Given the description of an element on the screen output the (x, y) to click on. 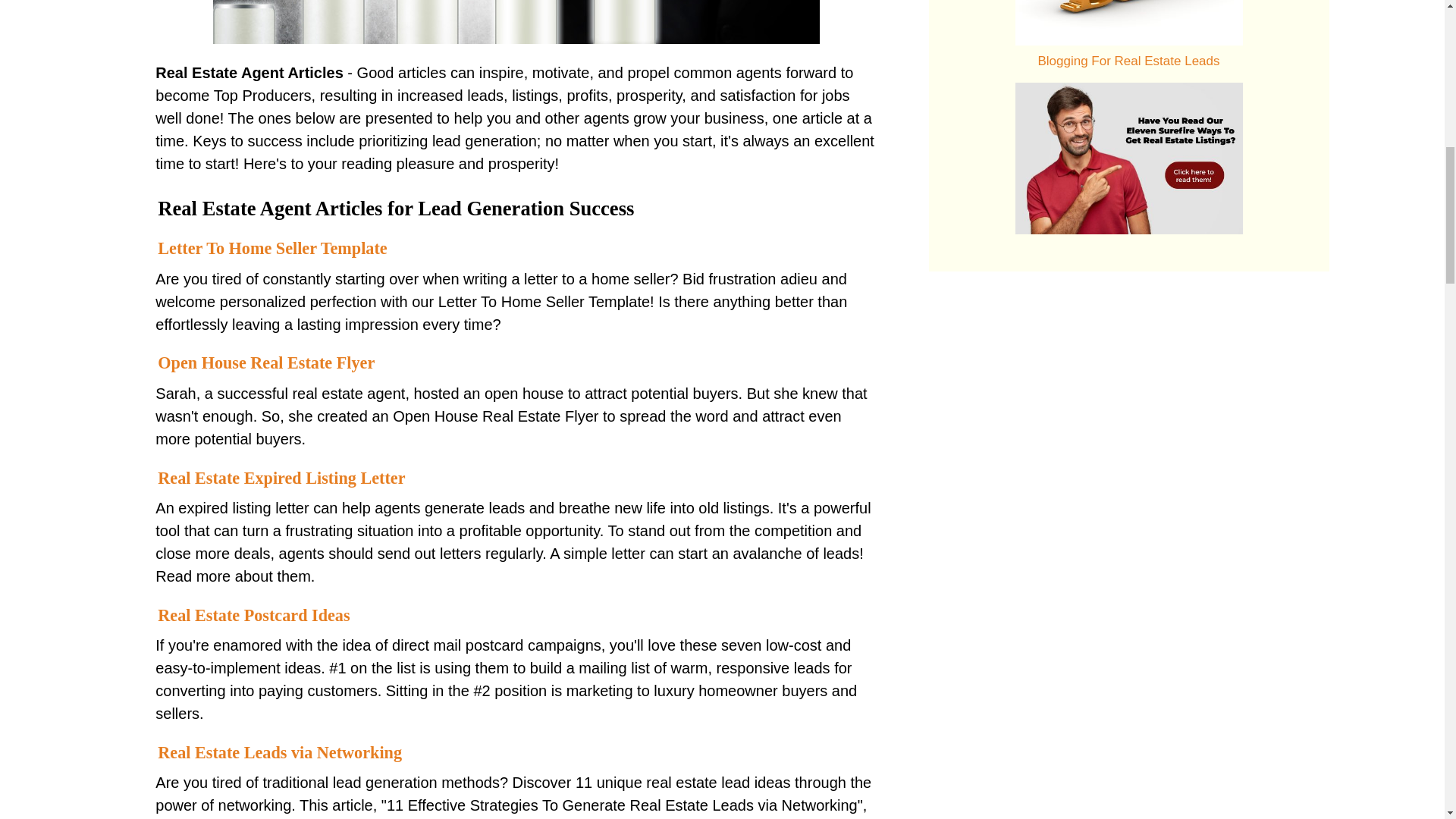
Real Estate Postcard Ideas   (257, 615)
Letter To Home Seller Template (272, 248)
how to get real estate listings (1127, 158)
Real Estate Leads via Networking (279, 752)
Go to How To Get Real Estate Listings - 11 Sure Fire Ways  (1127, 228)
Real Estate Expired Listing Letter (280, 477)
Blogging For Real Estate Leads (1127, 22)
Open House Real Estate Flyer (265, 362)
